Given the description of an element on the screen output the (x, y) to click on. 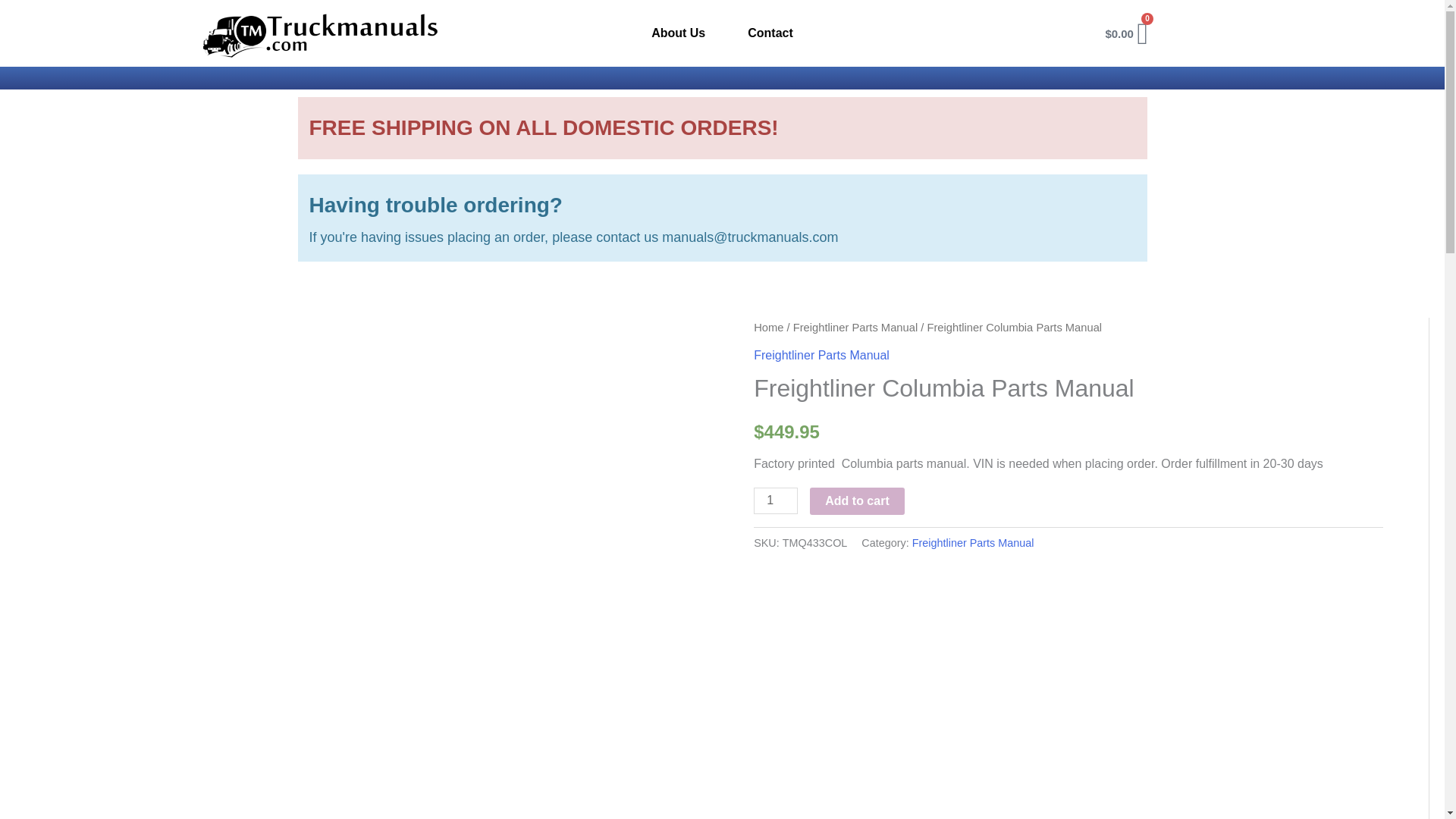
1 (775, 500)
About Us (678, 33)
Freightliner Parts Manual (855, 327)
Home (768, 327)
Add to cart (856, 501)
Freightliner Parts Manual (821, 354)
Contact (769, 33)
Freightliner Parts Manual (972, 542)
